Given the description of an element on the screen output the (x, y) to click on. 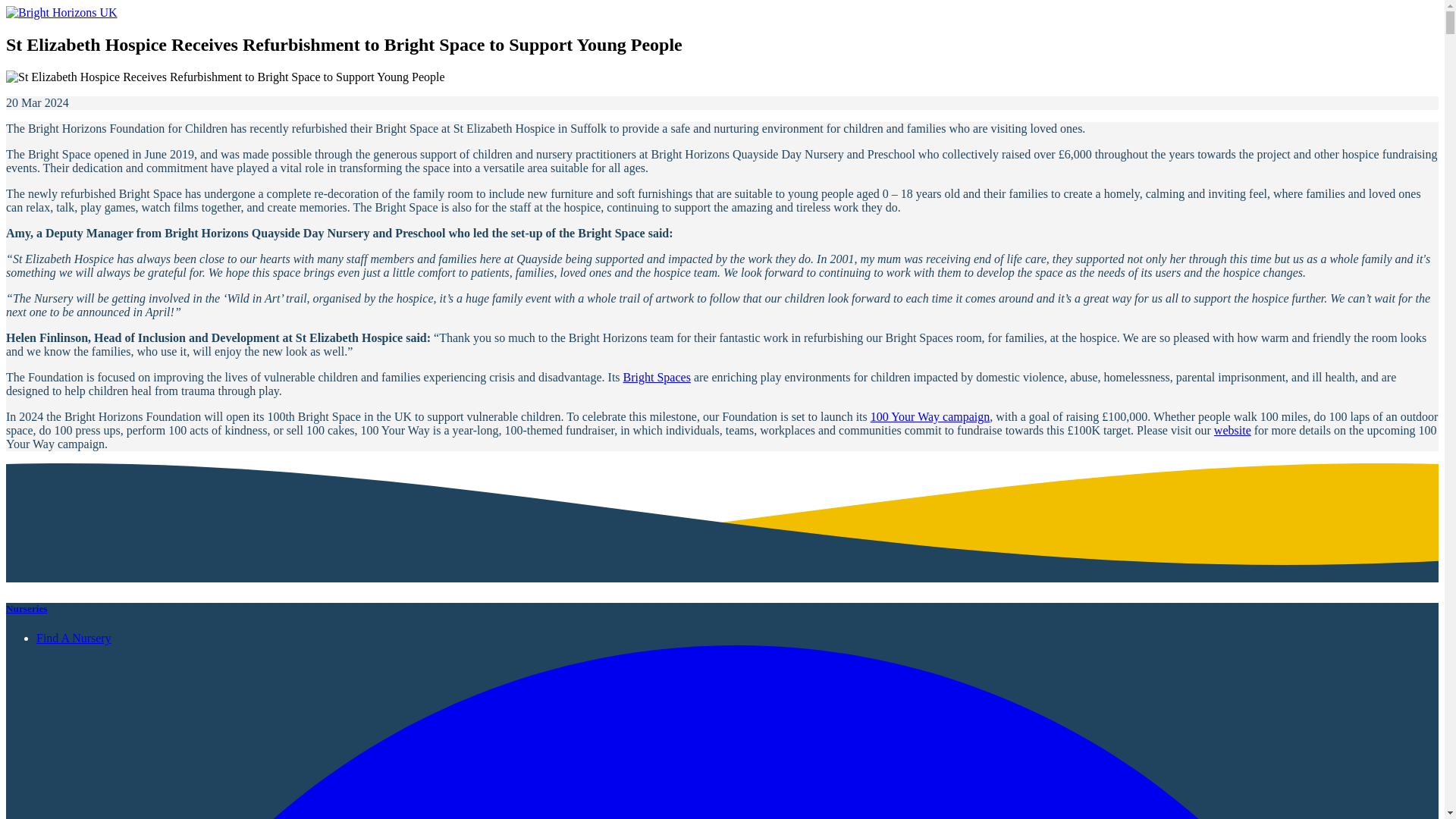
100 Your Way campaign (930, 416)
Nurseries (26, 608)
website (1232, 430)
Bright Spaces (656, 377)
